Given the description of an element on the screen output the (x, y) to click on. 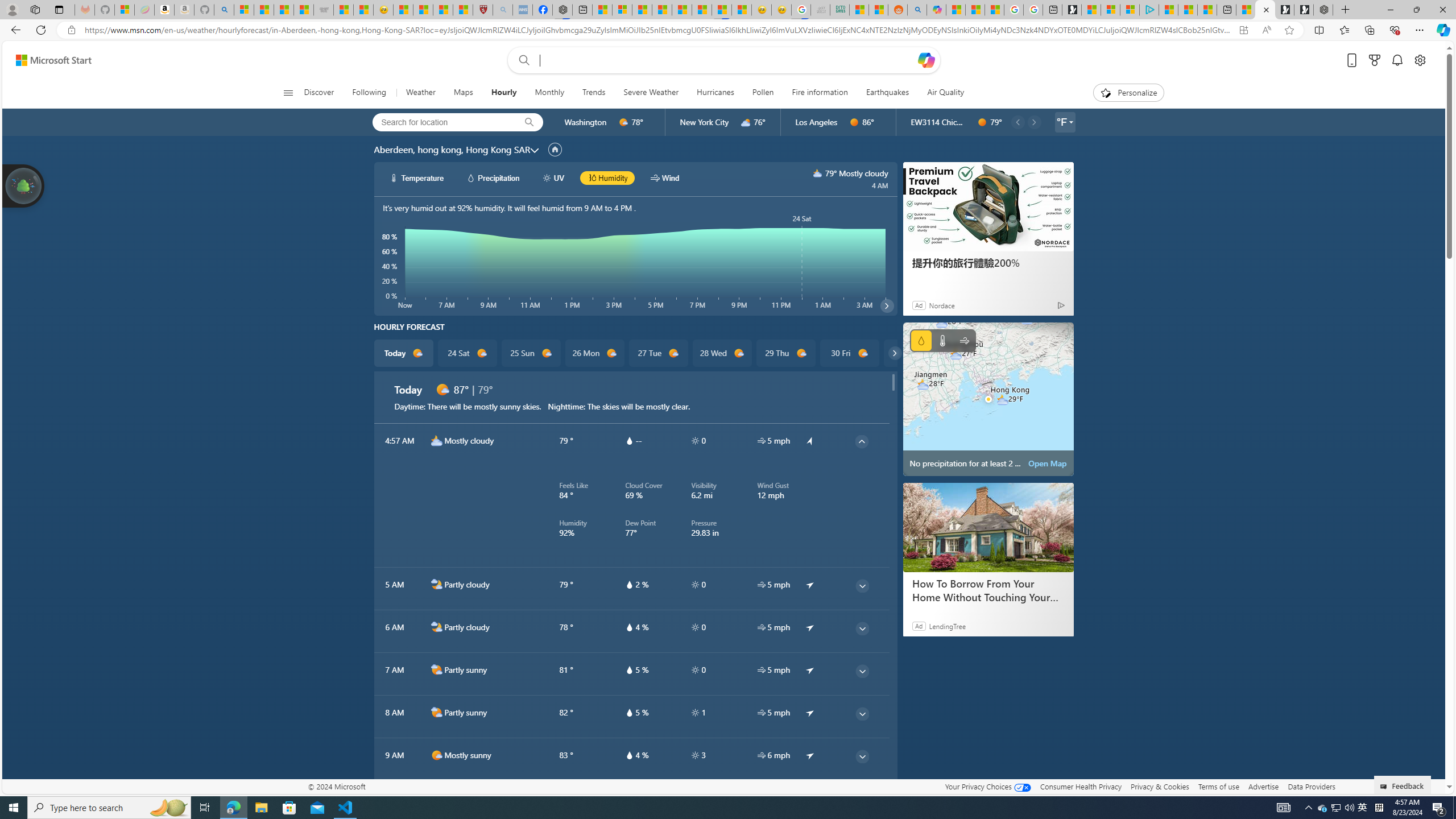
Maps (462, 92)
No precipitation for at least 2 hours (988, 398)
Wind (964, 340)
Recipes - MSN (402, 9)
locationName/setHomeLocation (555, 149)
Privacy & Cookies (1160, 785)
